Given the description of an element on the screen output the (x, y) to click on. 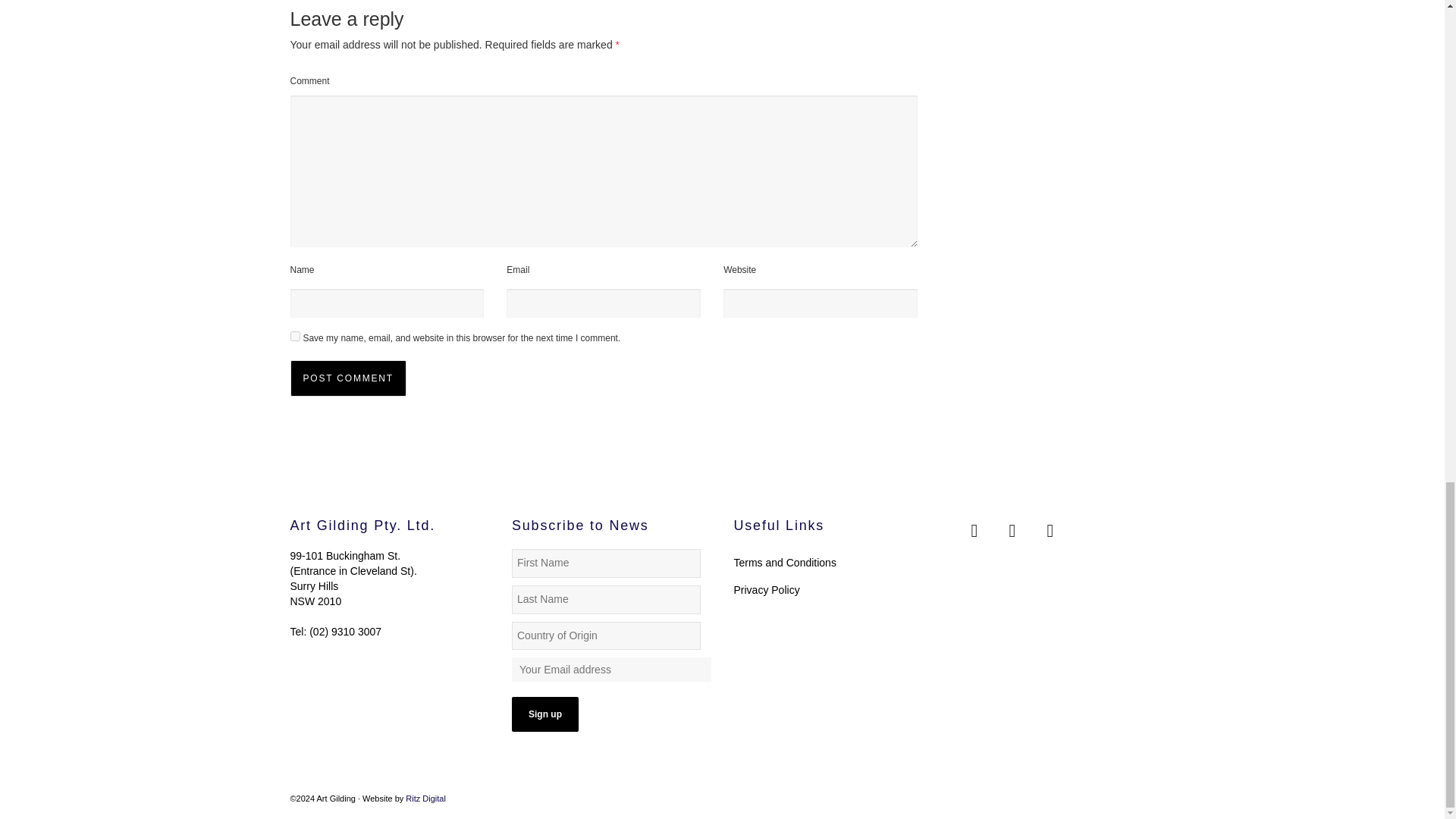
Sign up (545, 714)
yes (294, 336)
Post comment (347, 378)
